Given the description of an element on the screen output the (x, y) to click on. 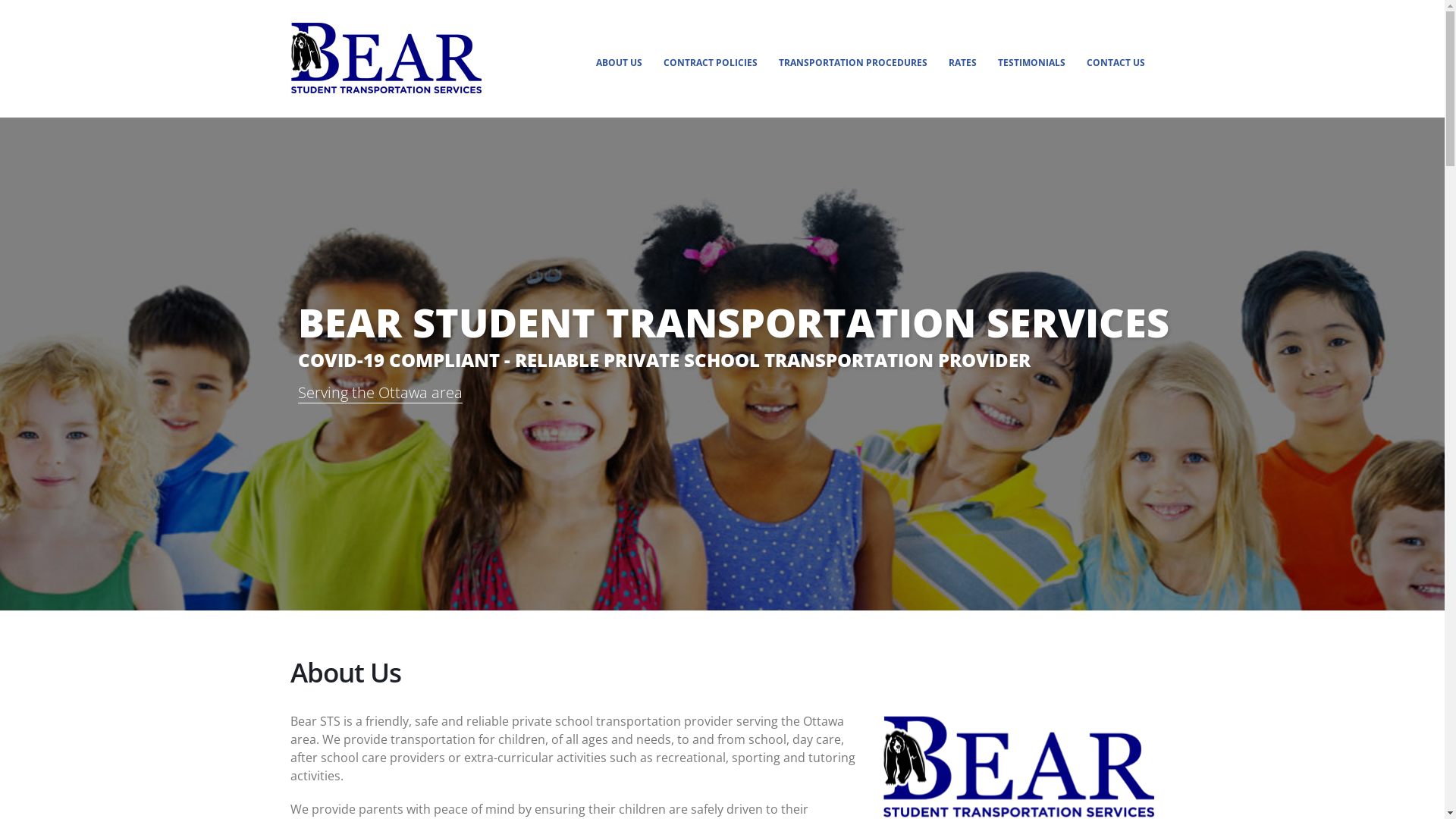
ABOUT US Element type: text (618, 62)
TRANSPORTATION PROCEDURES Element type: text (852, 62)
CONTRACT POLICIES Element type: text (710, 62)
RATES Element type: text (962, 62)
TESTIMONIALS Element type: text (1030, 62)
CONTACT US Element type: text (1115, 62)
